Given the description of an element on the screen output the (x, y) to click on. 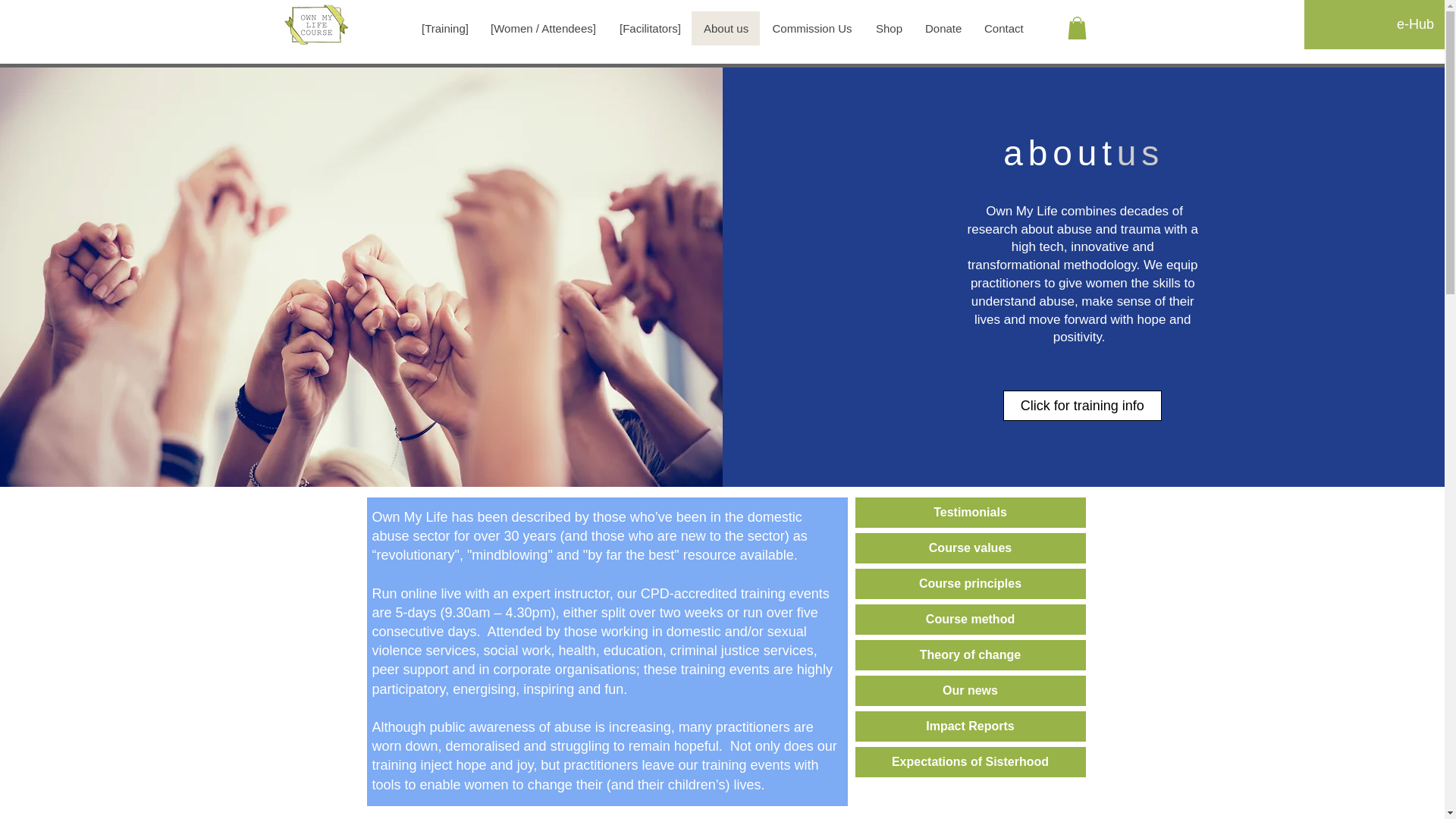
Donate (942, 28)
Course values (971, 548)
Course principles (971, 583)
Shop (887, 28)
Contact (1002, 28)
Click for training info (1082, 405)
About us (725, 28)
Testimonials (971, 512)
Commission Us (811, 28)
Our news (971, 690)
